Given the description of an element on the screen output the (x, y) to click on. 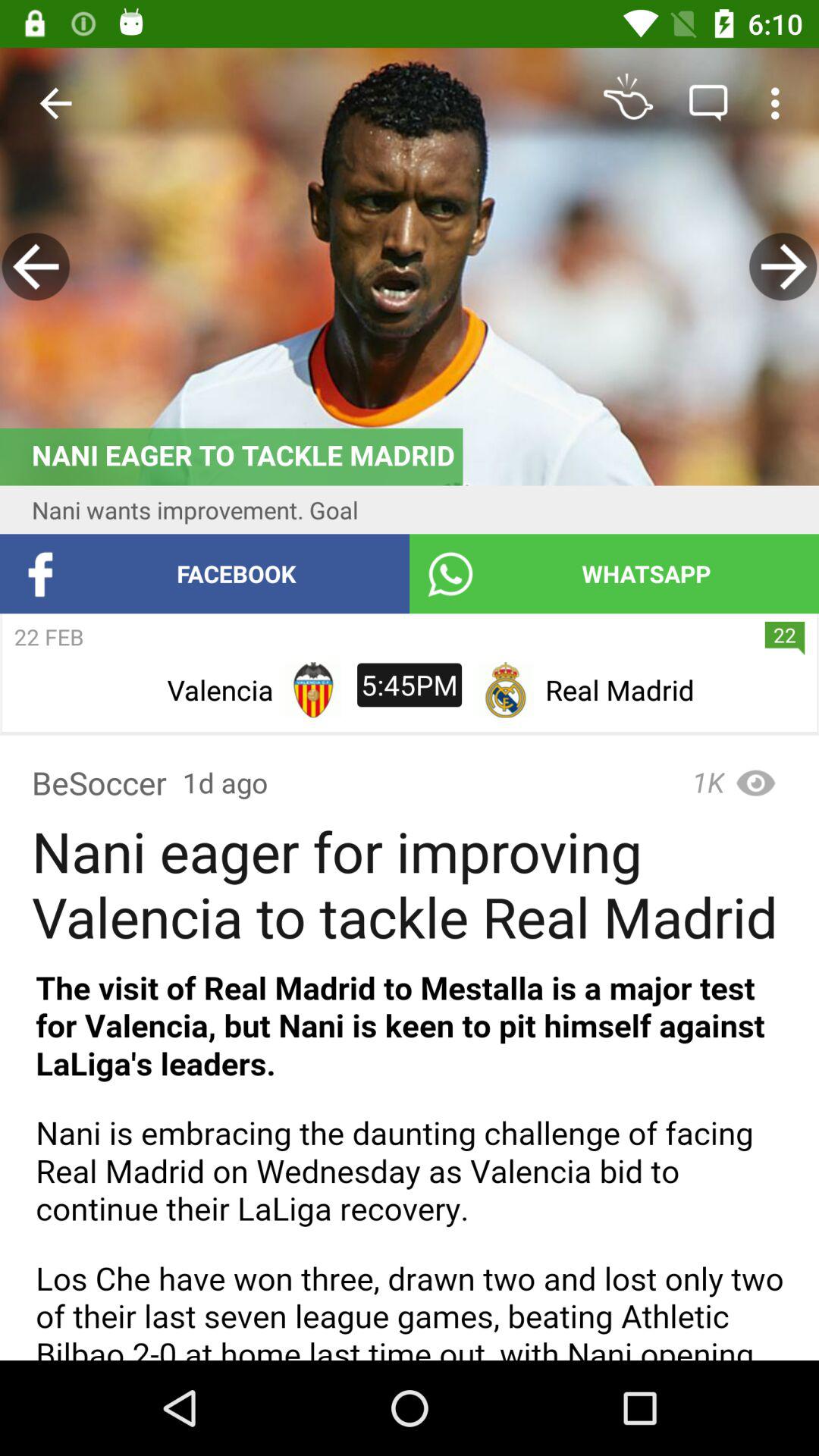
image (409, 266)
